Given the description of an element on the screen output the (x, y) to click on. 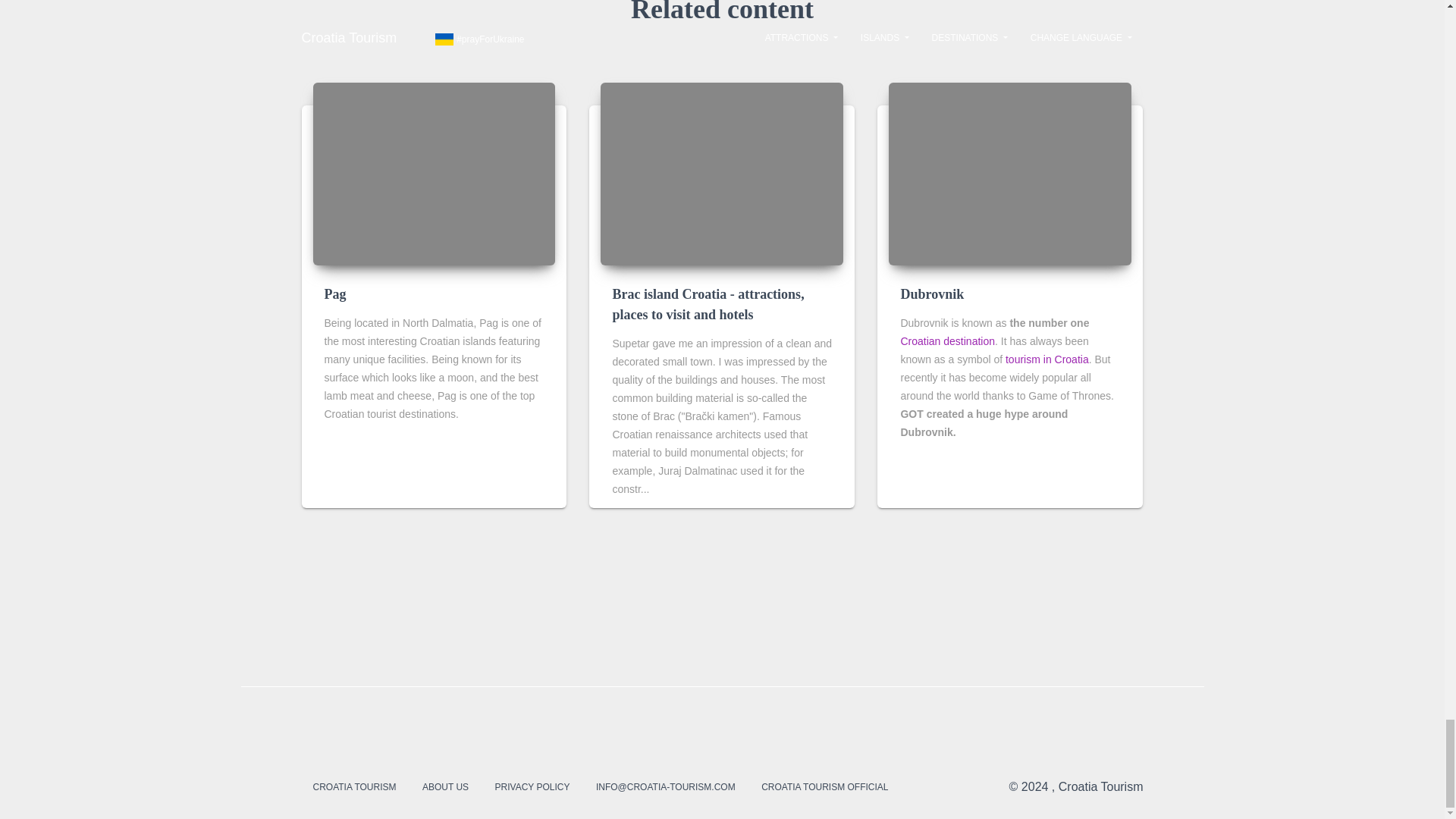
Dubrovnik from Srdj (1009, 173)
Supetar Riva (721, 173)
Pag city beach (433, 173)
